Given the description of an element on the screen output the (x, y) to click on. 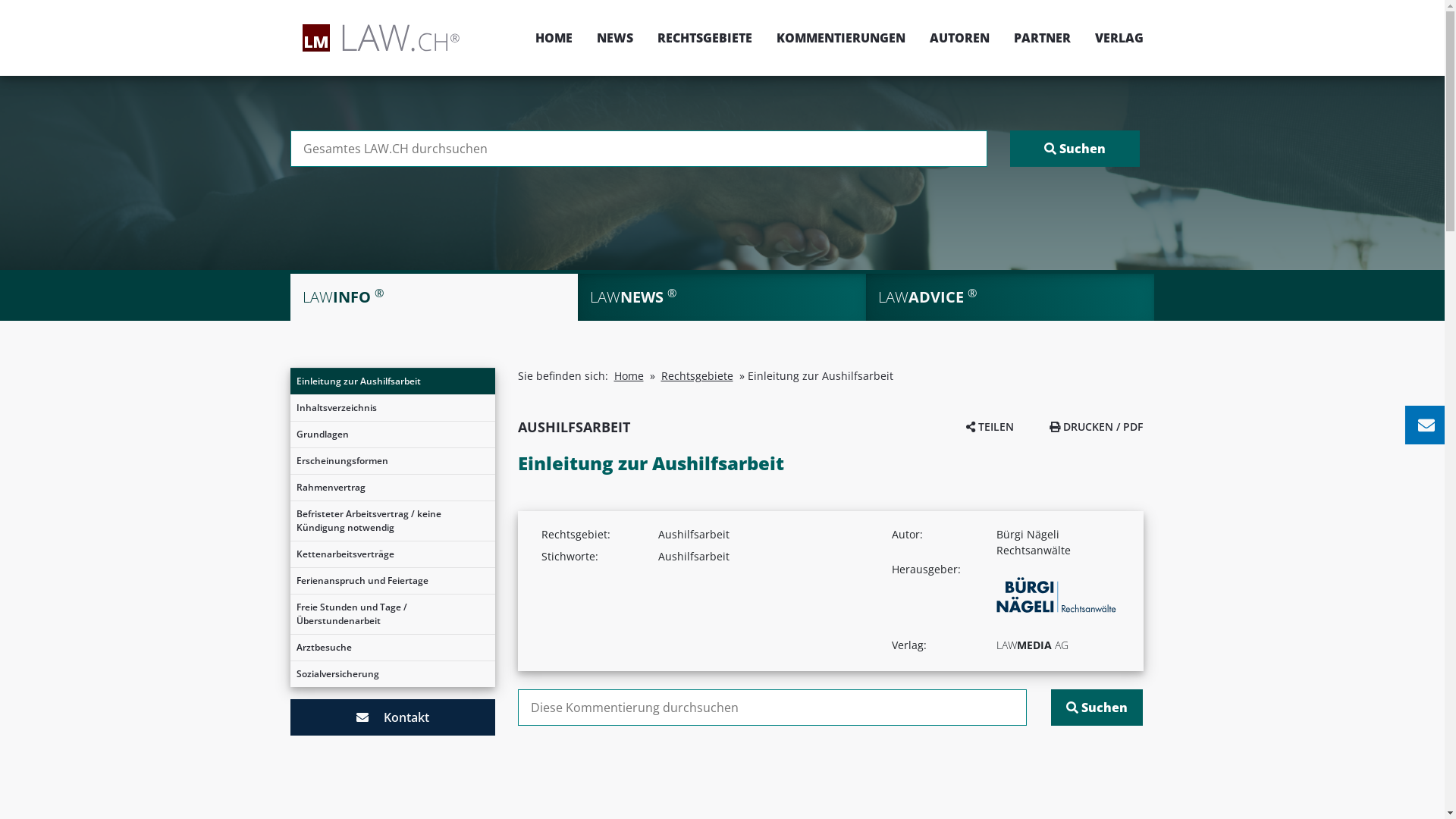
PARTNER Element type: text (1041, 37)
RECHTSGEBIETE Element type: text (703, 37)
 TEILEN Element type: text (989, 426)
Suchen nach: Element type: hover (771, 707)
Rechtsgebiete Element type: text (697, 375)
Grundlagen Element type: text (391, 434)
Ferienanspruch und Feiertage Element type: text (391, 580)
Home Element type: text (628, 375)
KOMMENTIERUNGEN Element type: text (840, 37)
HOME Element type: text (553, 37)
Suchen nach: Element type: hover (637, 148)
Erscheinungsformen Element type: text (391, 460)
Inhaltsverzeichnis Element type: text (391, 407)
Sozialversicherung Element type: text (391, 674)
NEWS Element type: text (613, 37)
Rahmenvertrag Element type: text (391, 487)
 DRUCKEN / PDF Element type: text (1095, 426)
VERLAG Element type: text (1112, 37)
    Kontakt Element type: text (391, 717)
AUTOREN Element type: text (959, 37)
Einleitung zur Aushilfsarbeit Element type: text (391, 381)
Arztbesuche Element type: text (391, 647)
